Given the description of an element on the screen output the (x, y) to click on. 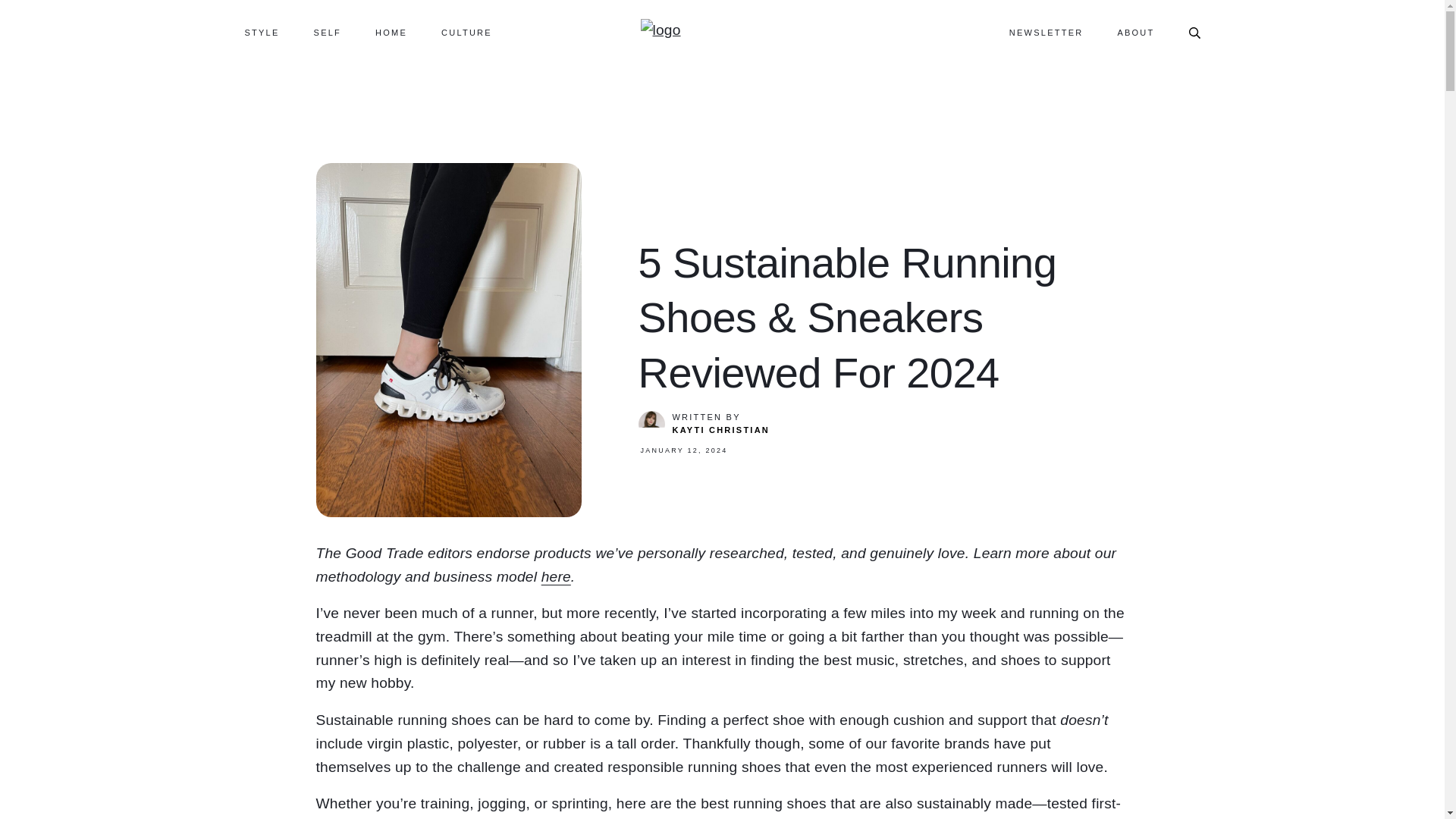
SELF (327, 31)
HOME (391, 31)
STYLE (261, 31)
Homepage (659, 29)
